Given the description of an element on the screen output the (x, y) to click on. 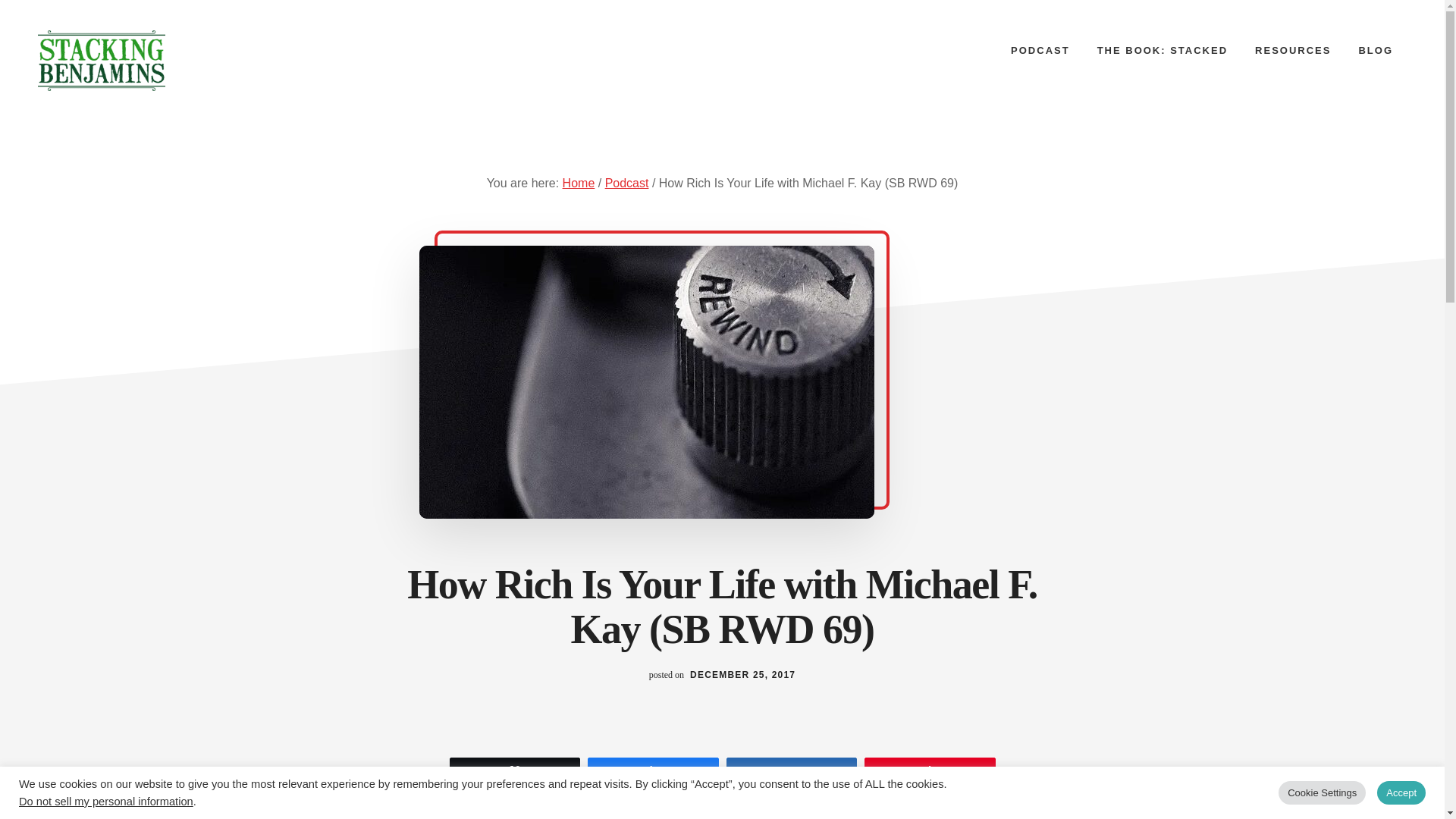
THE STACKING BENJAMINS SHOW (150, 60)
RESOURCES (1292, 50)
Cookie Settings (1321, 792)
BLOG (1374, 50)
Home (578, 182)
THE BOOK: STACKED (1162, 50)
Do not sell my personal information (105, 801)
Podcast (627, 182)
PODCAST (1040, 50)
